Given the description of an element on the screen output the (x, y) to click on. 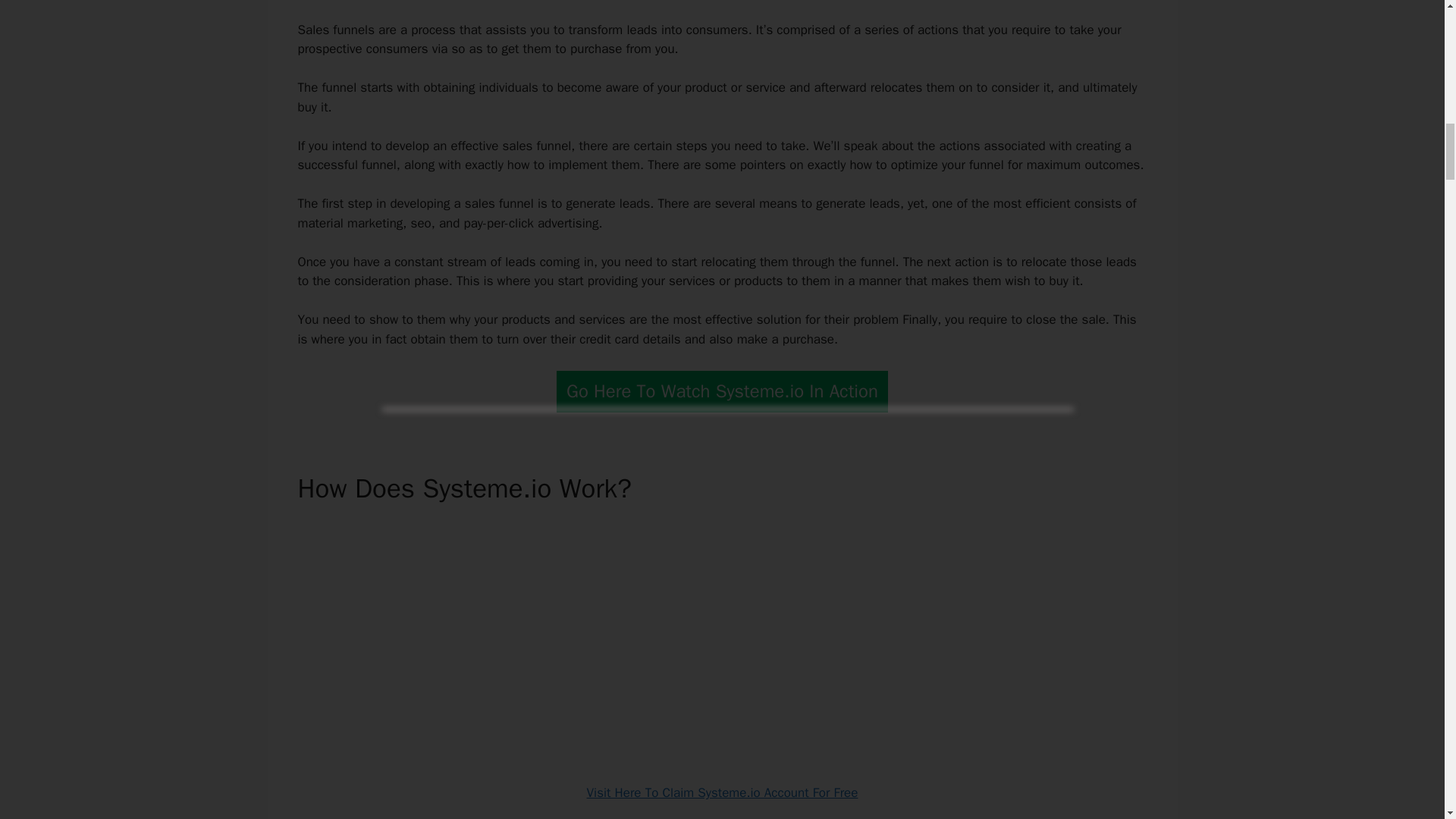
Go Here To Watch Systeme.io In Action (722, 391)
Visit Here To Claim Systeme.io Account For Free (722, 792)
YouTube video player (721, 638)
